Given the description of an element on the screen output the (x, y) to click on. 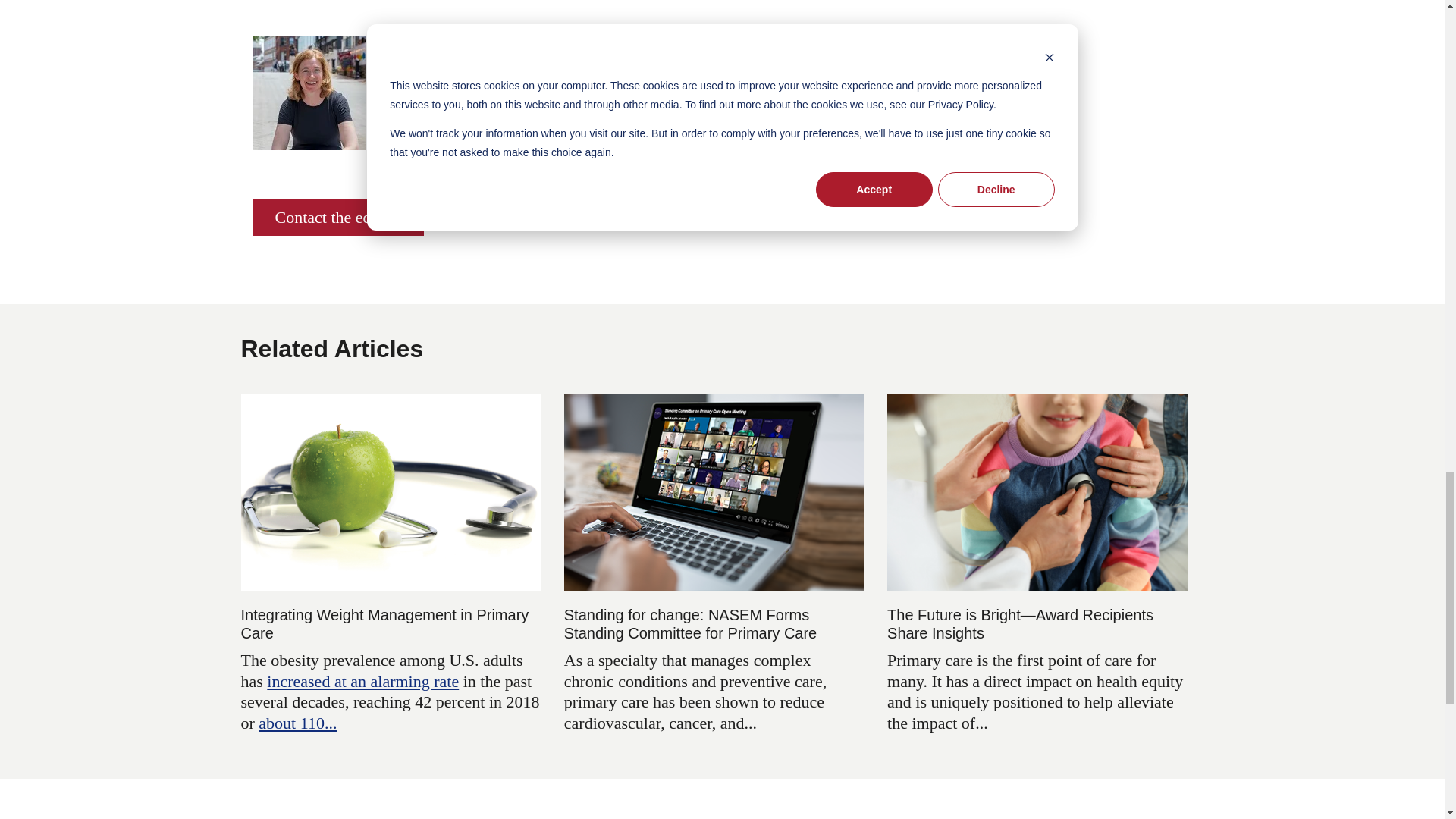
Show article permalink (578, 153)
email (543, 153)
Facebook (440, 153)
Twitter (474, 153)
Linkedin (509, 153)
